Given the description of an element on the screen output the (x, y) to click on. 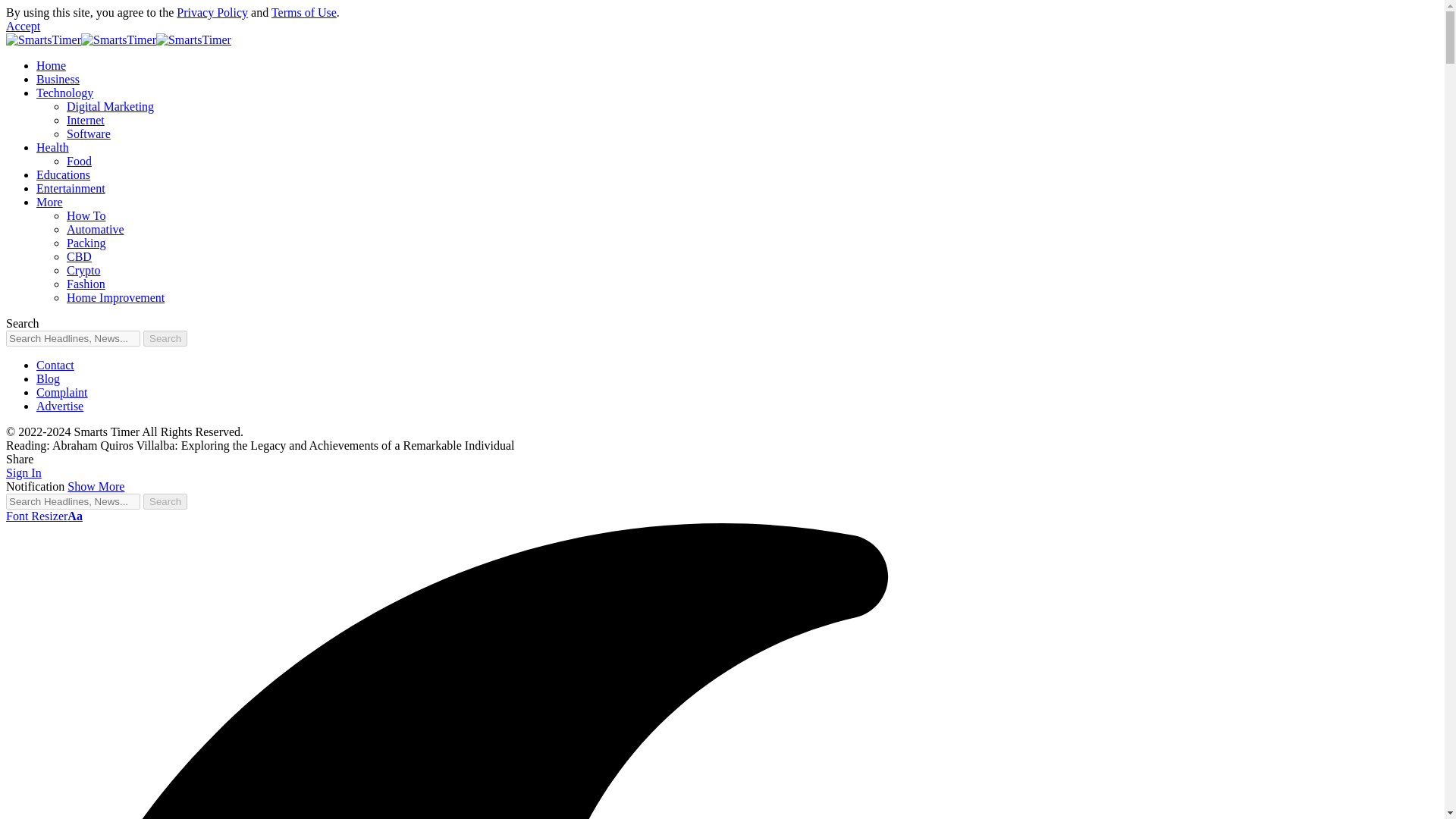
Contact (55, 364)
Search (164, 501)
Food (78, 160)
Business (58, 78)
How To (85, 215)
Crypto (83, 269)
Software (88, 133)
Fashion (85, 283)
Home (50, 65)
Privacy Policy (211, 11)
Show More (94, 486)
Entertainment (70, 187)
Search (164, 501)
More (49, 201)
Accept (22, 25)
